Given the description of an element on the screen output the (x, y) to click on. 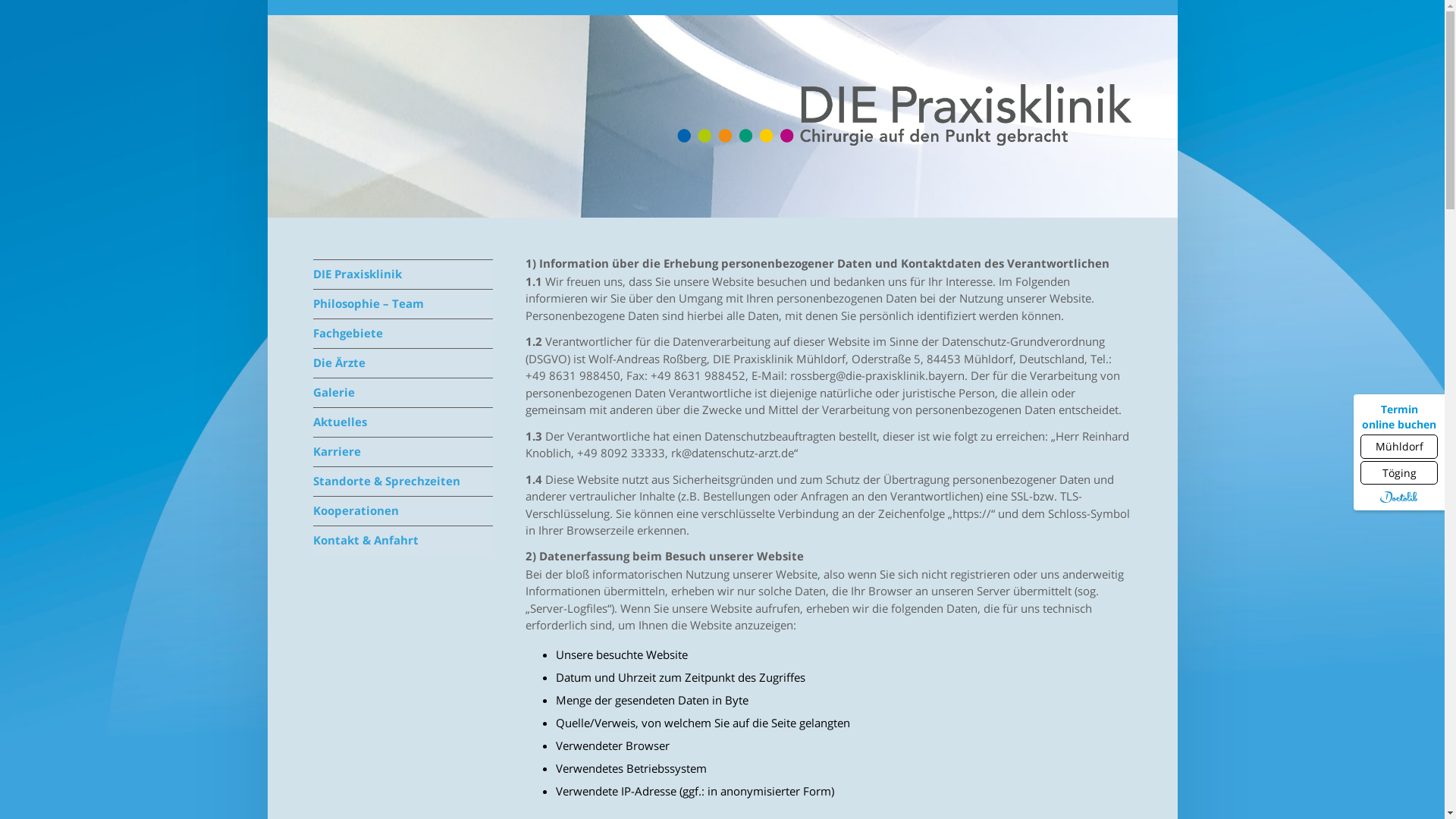
Kooperationen Element type: text (402, 508)
Karriere Element type: text (402, 449)
Standorte & Sprechzeiten Element type: text (402, 479)
Kontakt & Anfahrt Element type: text (402, 538)
Aktuelles Element type: text (402, 420)
Fachgebiete Element type: text (402, 331)
DIE Praxisklinik Element type: text (402, 272)
Chirurgie auf den Punkt gebracht Element type: hover (903, 116)
Galerie Element type: text (402, 390)
